Given the description of an element on the screen output the (x, y) to click on. 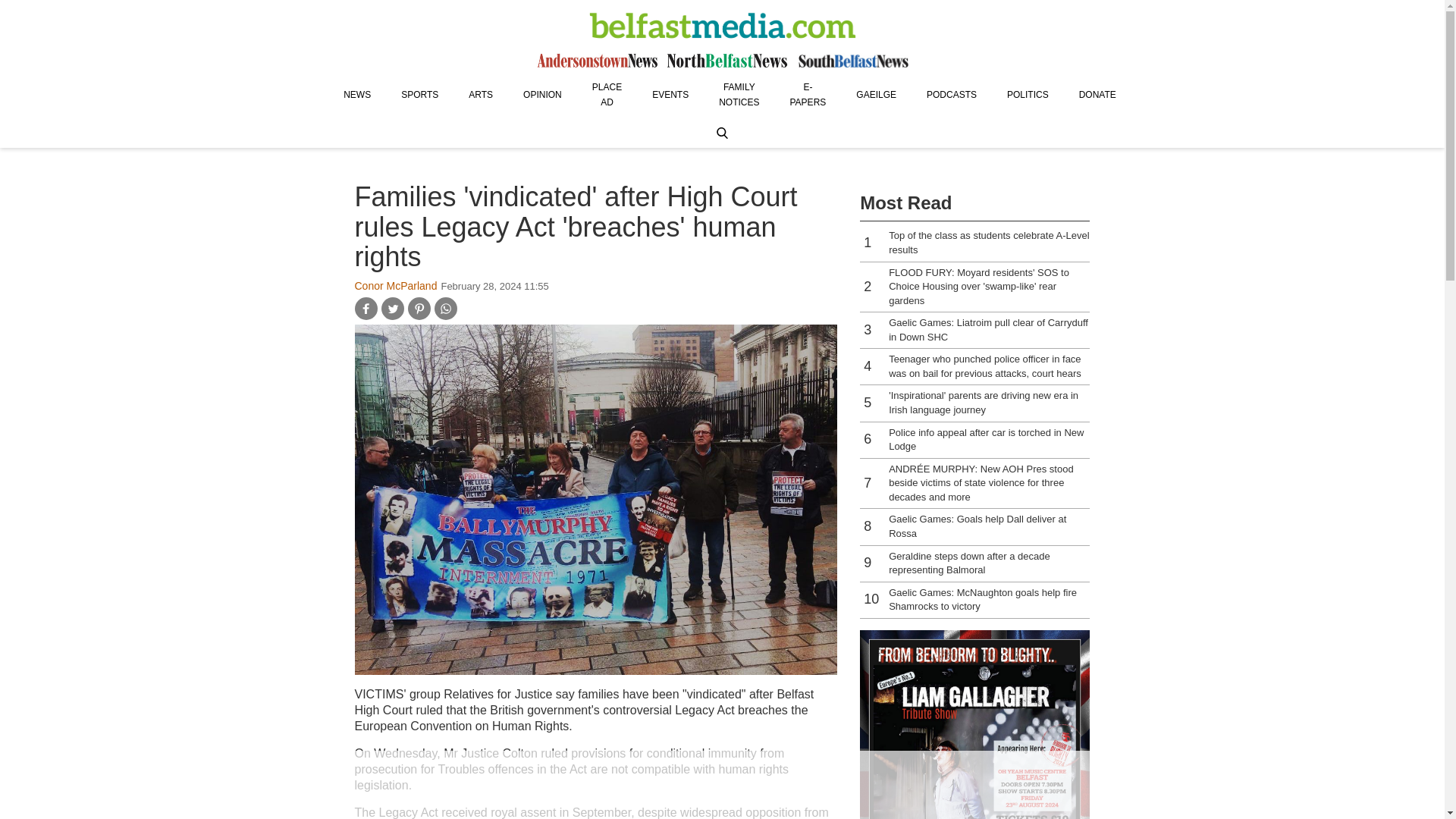
NEWS (357, 94)
SPORTS (418, 94)
ARTS (480, 94)
OPINION (542, 94)
